Given the description of an element on the screen output the (x, y) to click on. 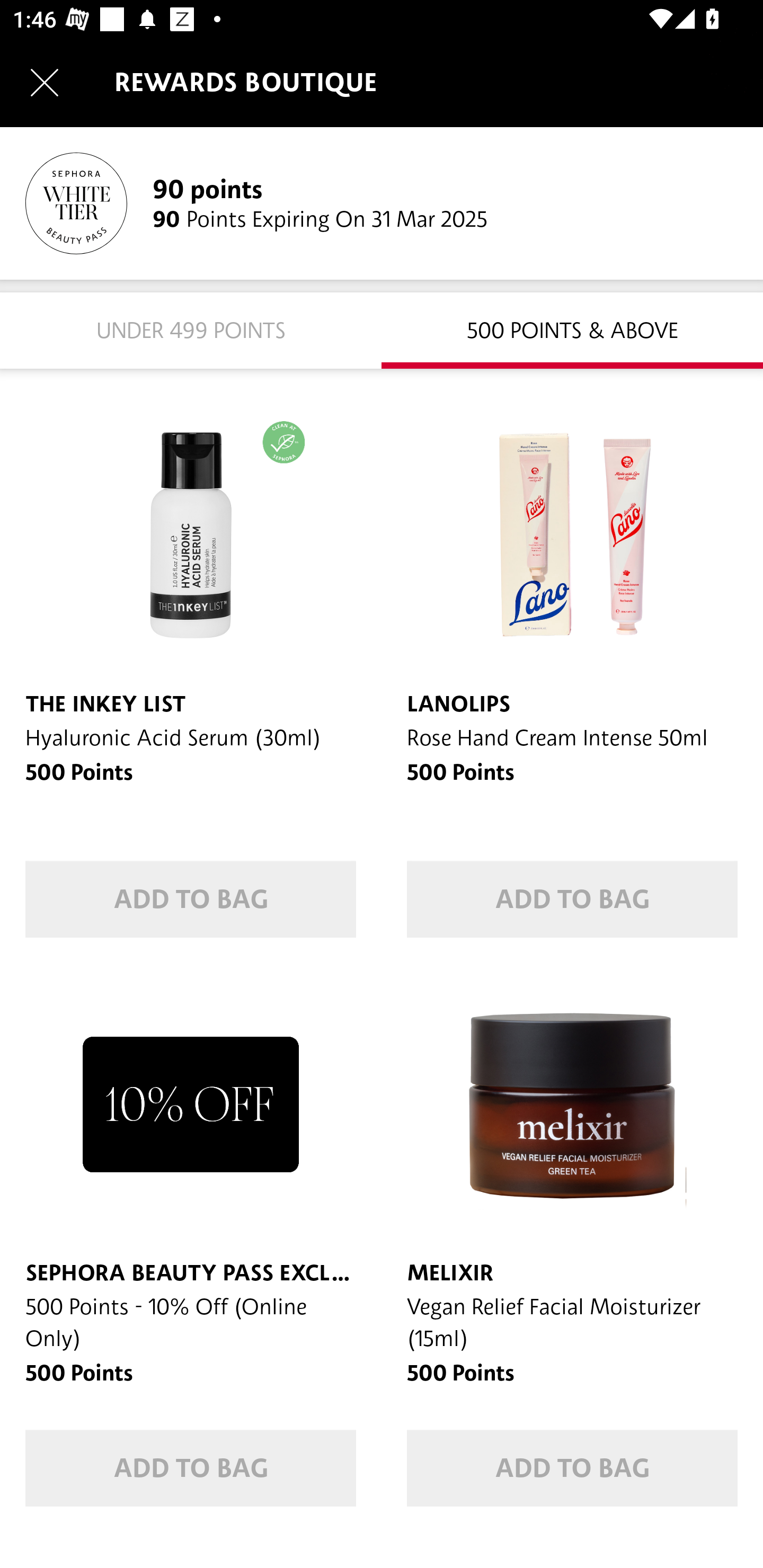
Navigate up (44, 82)
Under 499 Points UNDER 499 POINTS (190, 329)
ADD TO BAG (190, 898)
ADD TO BAG (571, 898)
ADD TO BAG (190, 1468)
ADD TO BAG (571, 1468)
